Given the description of an element on the screen output the (x, y) to click on. 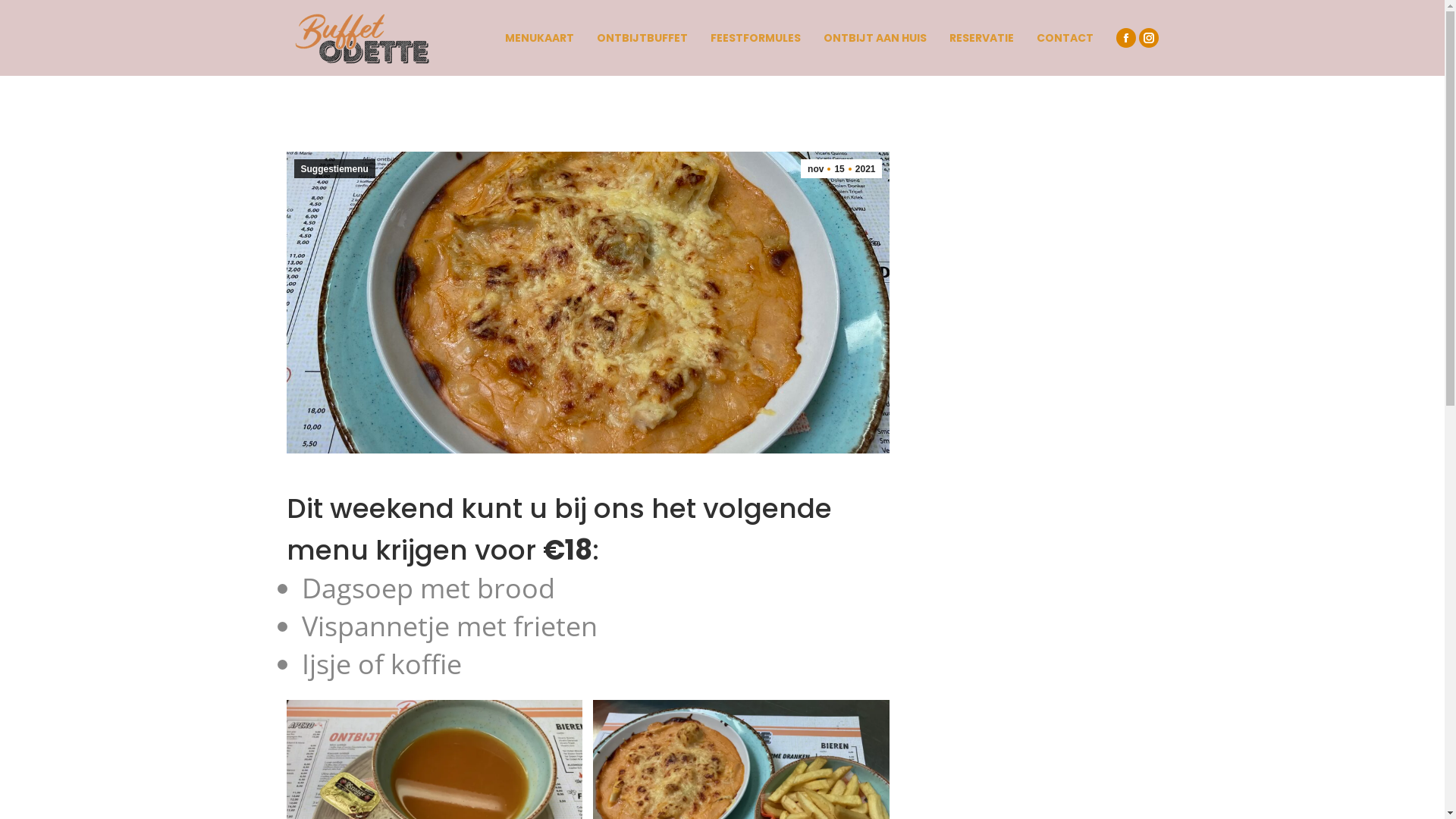
Suggestiemenu Element type: text (955, 92)
CONTACT Element type: text (1063, 37)
Vispannetje Element type: hover (587, 302)
Suggestiemenu Element type: text (334, 168)
Instagram page opens in new window Element type: text (1148, 37)
ONTBIJT AAN HUIS Element type: text (874, 37)
Facebook page opens in new window Element type: text (1125, 37)
Home Element type: text (890, 92)
RESERVATIE Element type: text (981, 37)
FEESTFORMULES Element type: text (754, 37)
MENUKAART Element type: text (539, 37)
ONTBIJTBUFFET Element type: text (641, 37)
nov
15
2021 Element type: text (840, 168)
